Given the description of an element on the screen output the (x, y) to click on. 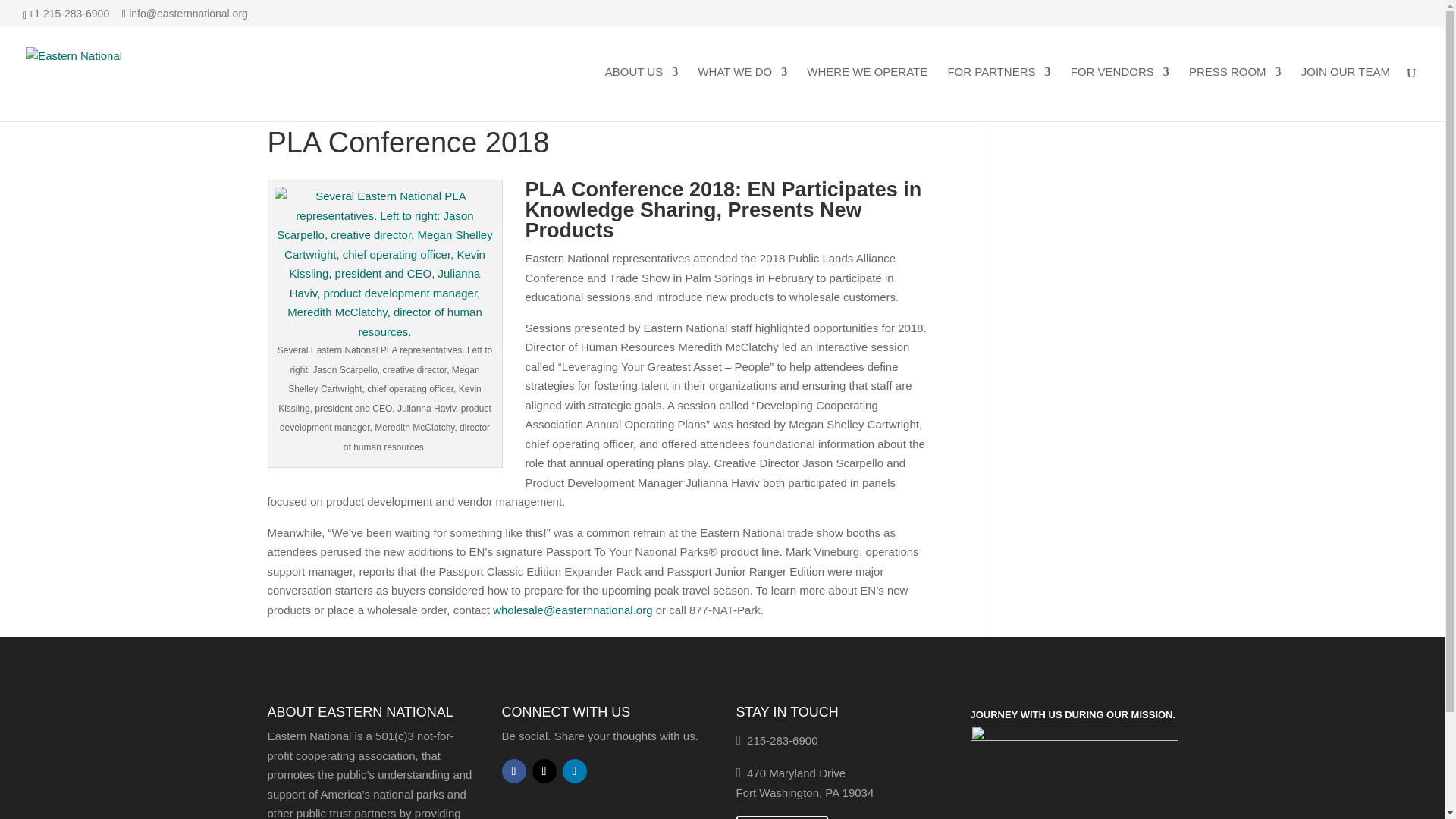
JOIN OUR TEAM (1345, 93)
ABOUT US (641, 93)
WHAT WE DO (742, 93)
Follow on X (544, 770)
FOR PARTNERS (998, 93)
PRESS ROOM (1235, 93)
FOR VENDORS (1119, 93)
WHERE WE OPERATE (866, 93)
Follow on Facebook (513, 770)
CONTACT US (781, 817)
